Given the description of an element on the screen output the (x, y) to click on. 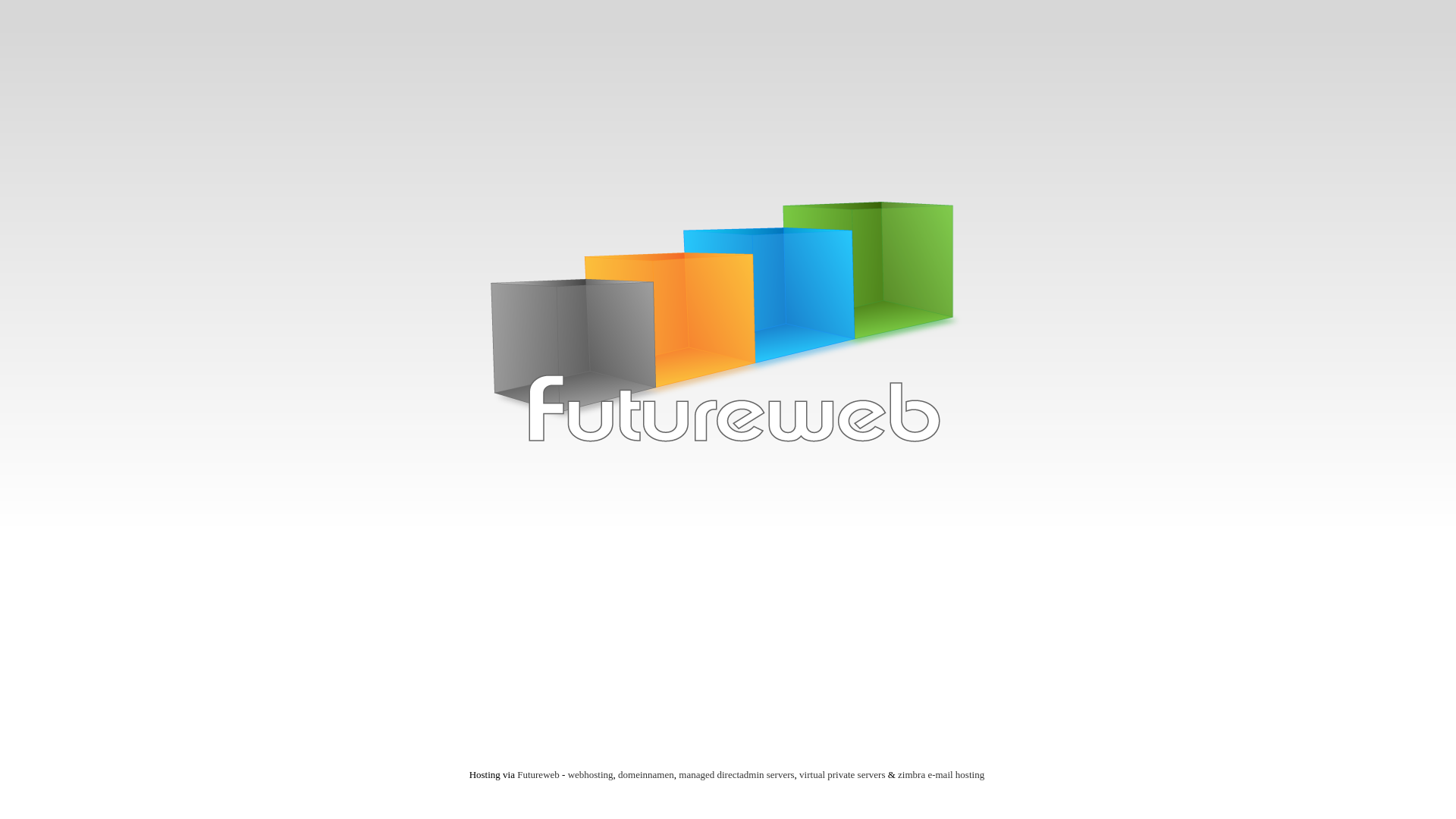
managed directadmin servers Element type: text (735, 774)
Futureweb Element type: hover (728, 327)
zimbra e-mail hosting Element type: text (940, 774)
domeinnamen Element type: text (646, 774)
webhosting Element type: text (590, 774)
Futureweb Element type: text (538, 774)
virtual private servers Element type: text (841, 774)
